Given the description of an element on the screen output the (x, y) to click on. 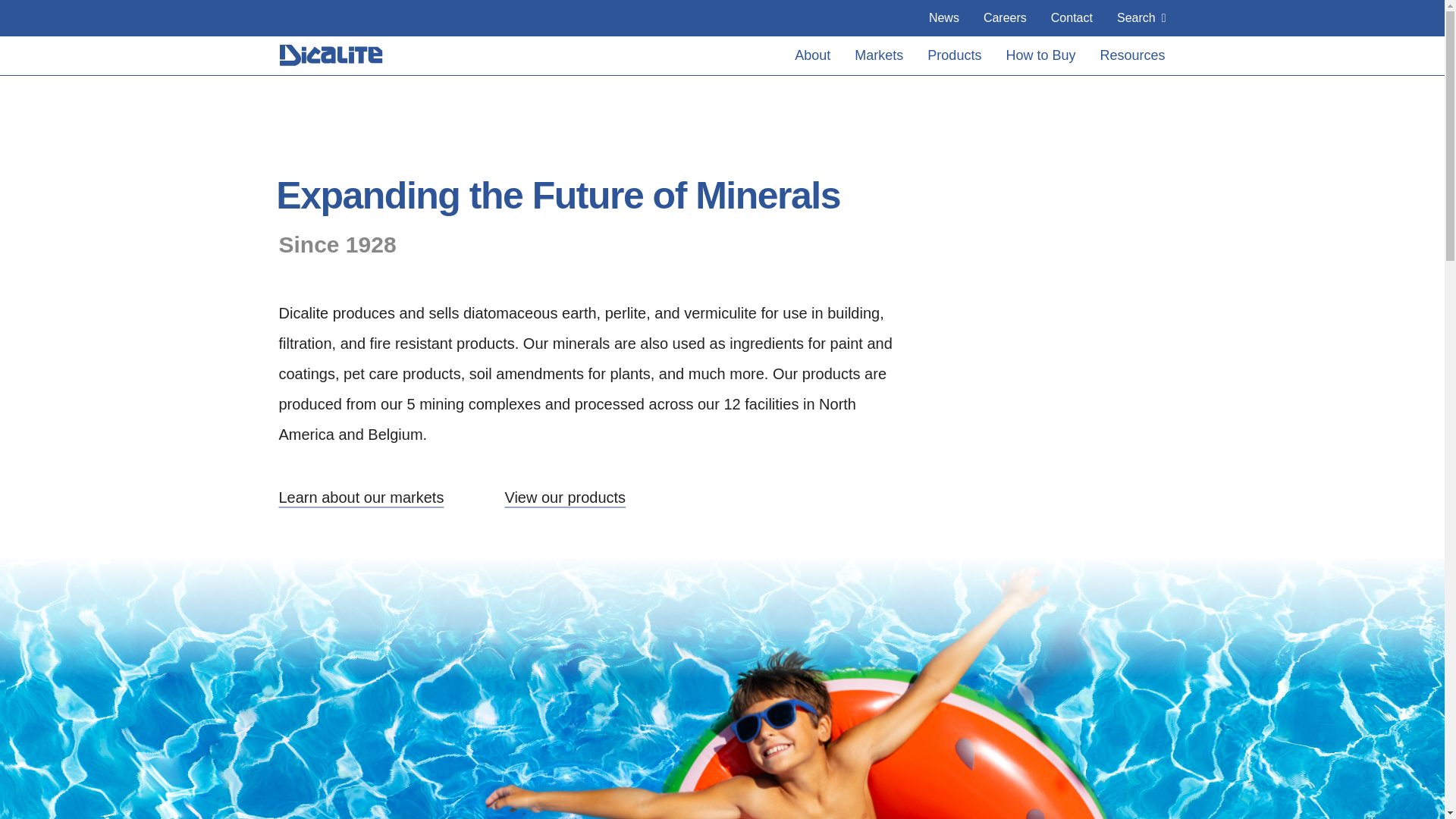
Markets (879, 55)
News (943, 18)
Search (1141, 18)
Careers (1005, 18)
Resources (1131, 55)
Dicalite Management Group (332, 55)
Dicalite Management Group (333, 55)
How to Buy (1039, 55)
Products (953, 55)
About (813, 55)
Contact (1072, 18)
